Given the description of an element on the screen output the (x, y) to click on. 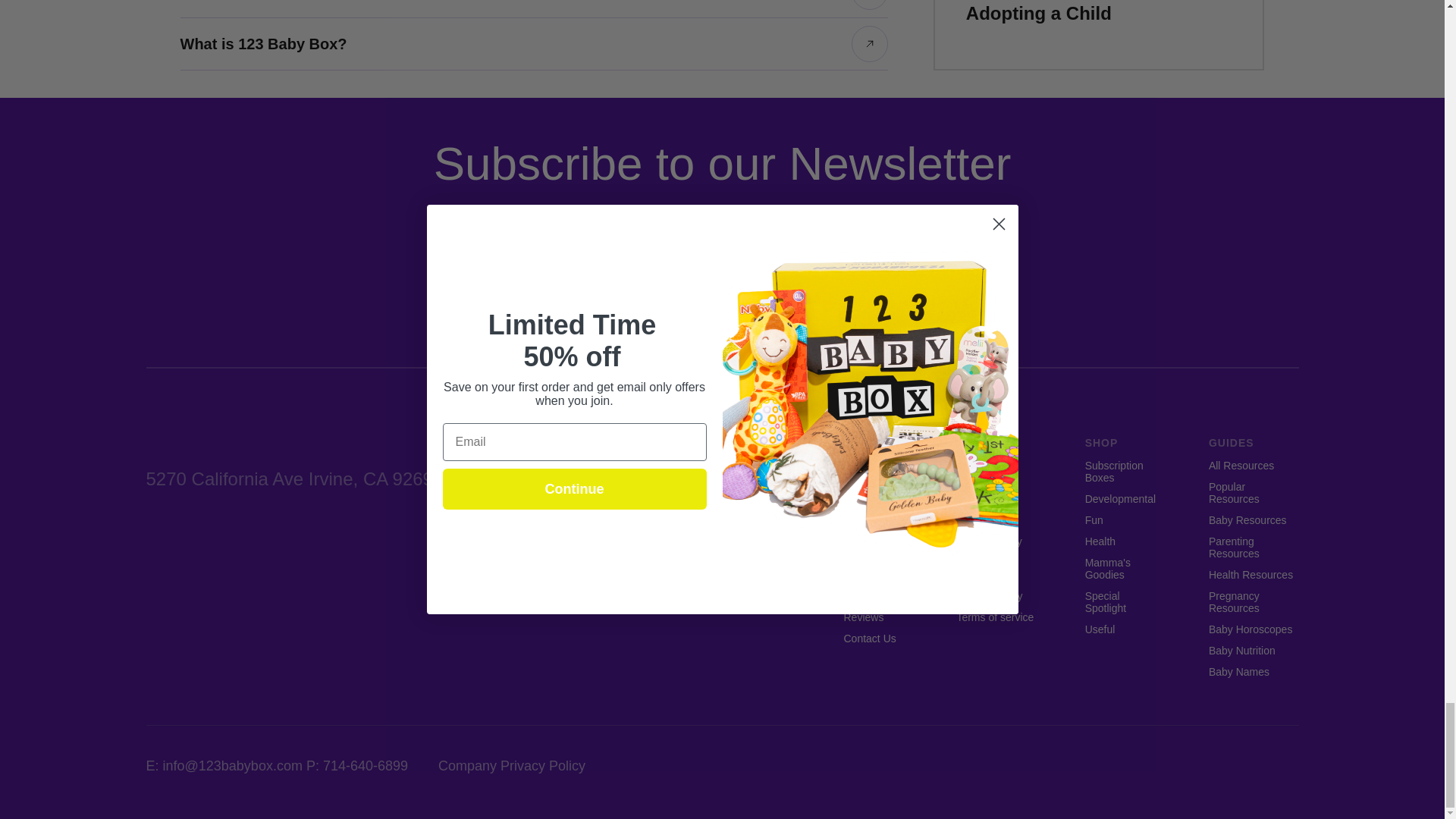
SUBSCRIBE (848, 275)
